Given the description of an element on the screen output the (x, y) to click on. 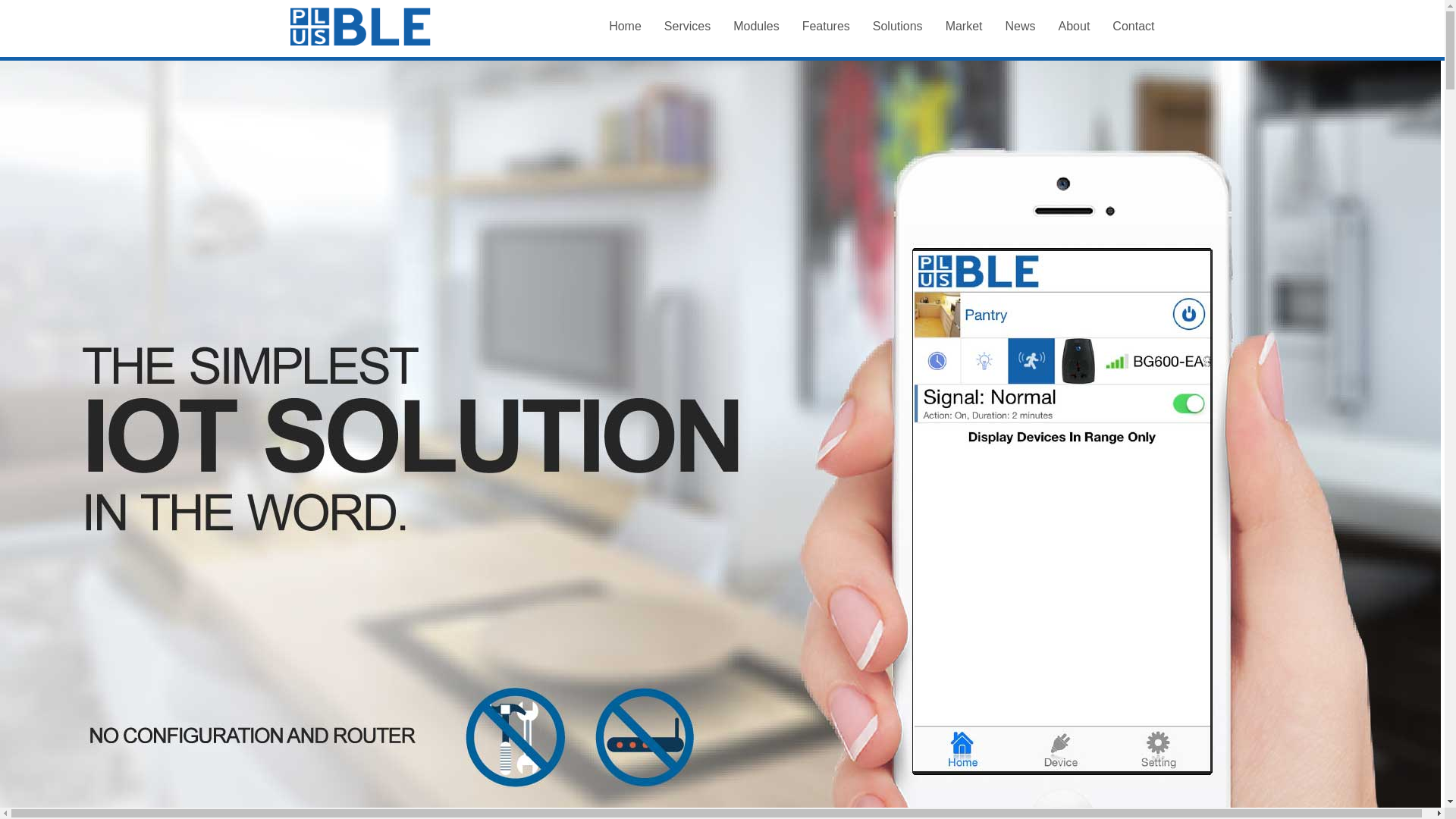
Modules (756, 26)
Modules (756, 26)
Services (687, 26)
About (1074, 26)
Contact (1133, 26)
Contact (1133, 26)
Services (687, 26)
Home (624, 26)
Solutions (897, 26)
News (1020, 26)
